Given the description of an element on the screen output the (x, y) to click on. 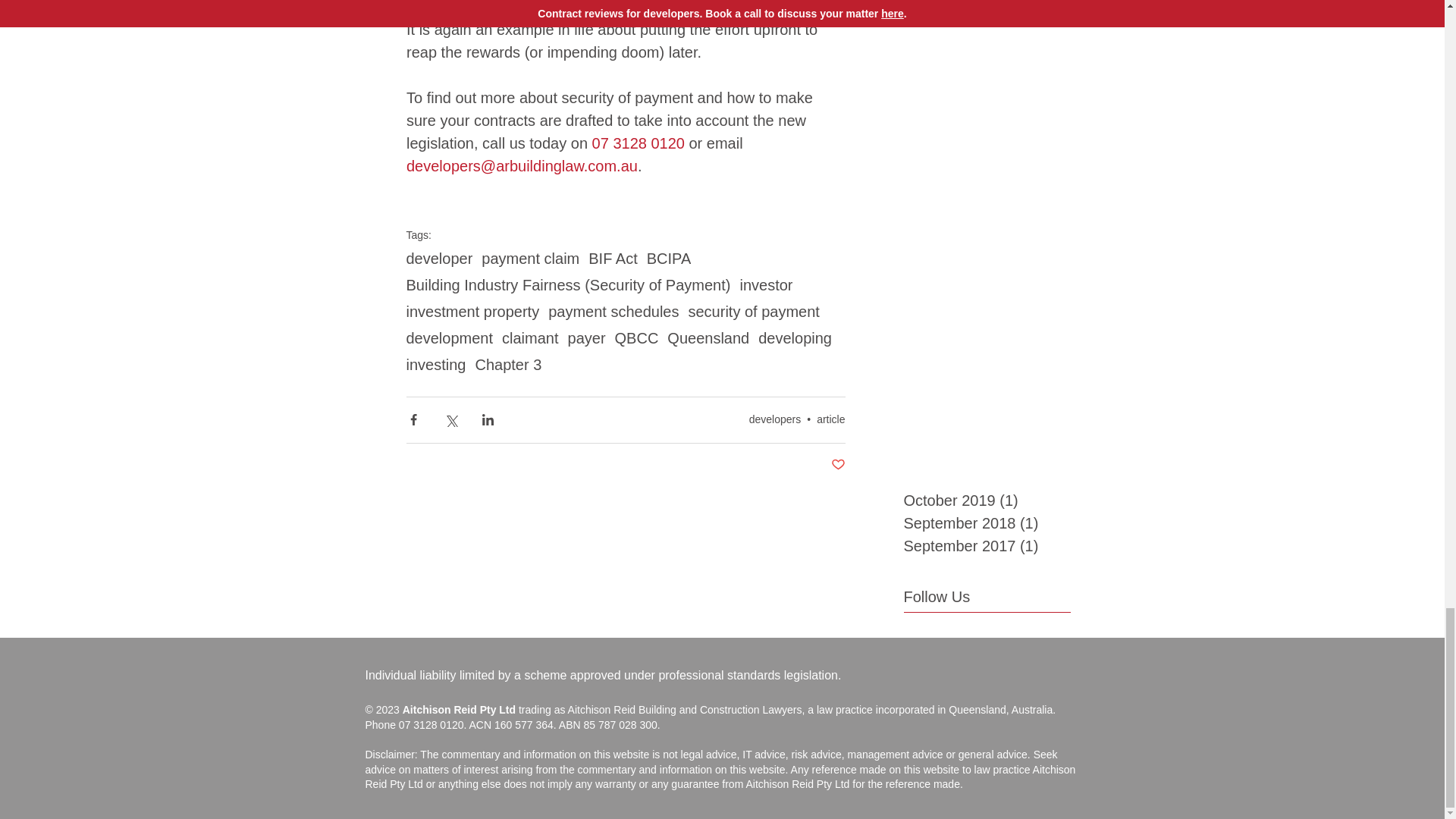
developer (439, 258)
developing (794, 338)
security of payment (752, 312)
developers (775, 419)
development (449, 338)
QBCC (636, 338)
investment property (473, 312)
Post not marked as liked (838, 465)
Chapter 3 (507, 364)
investor (765, 285)
payment claim (530, 258)
claimant (529, 338)
payment schedules (613, 312)
Queensland (707, 338)
BIF Act (612, 258)
